Given the description of an element on the screen output the (x, y) to click on. 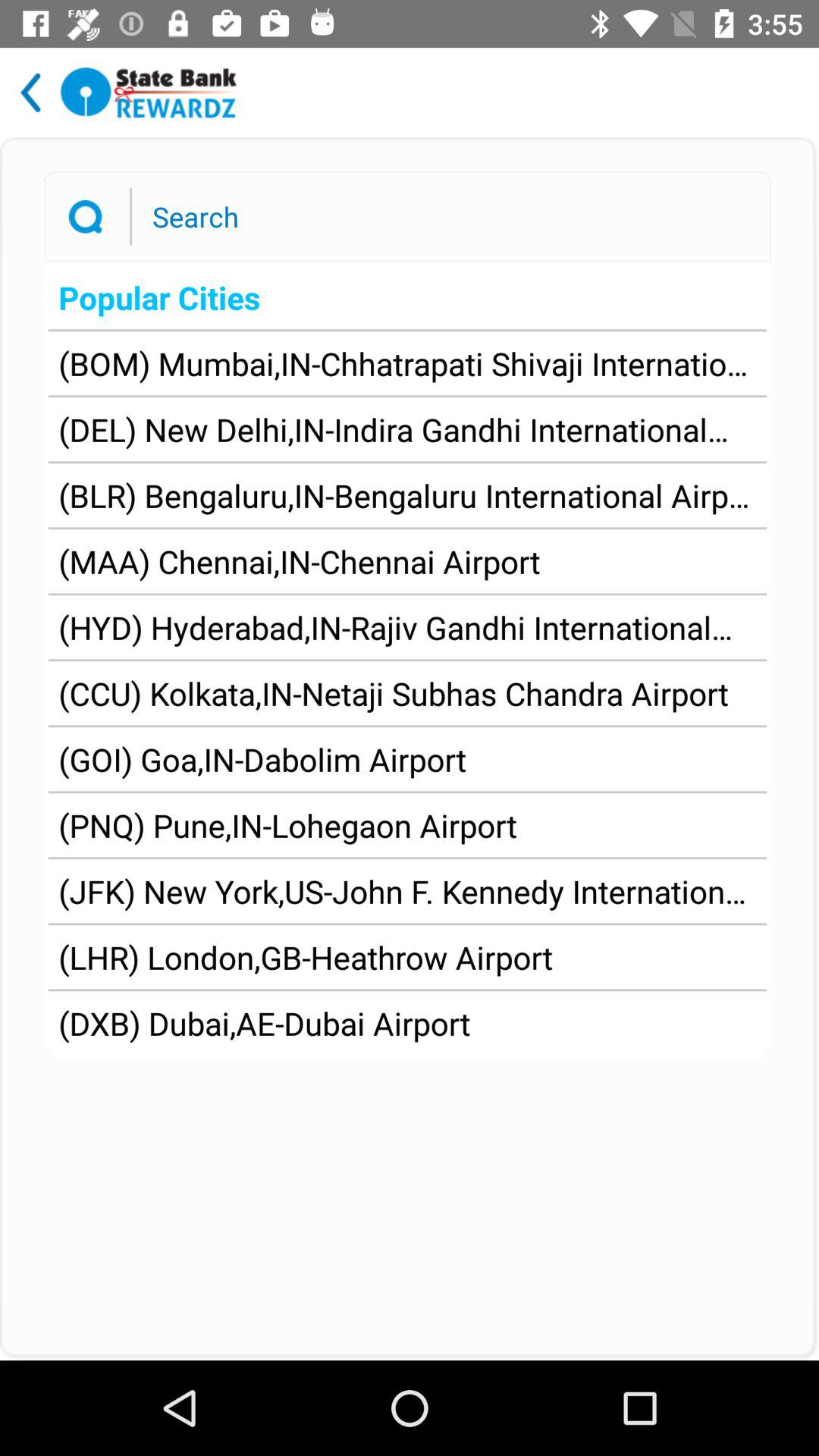
select the app below maa chennai in app (407, 626)
